Given the description of an element on the screen output the (x, y) to click on. 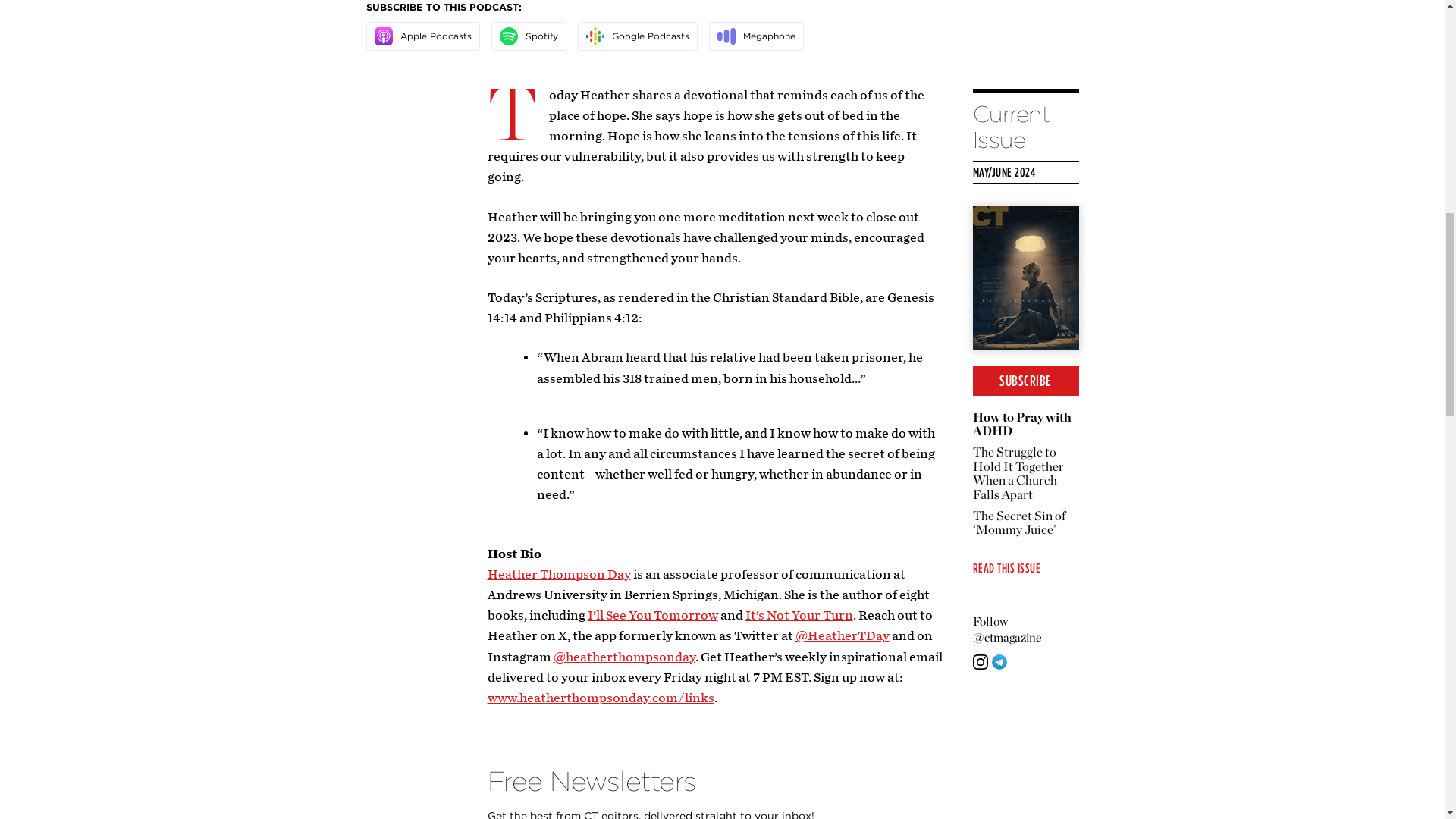
Megaphone (726, 36)
Apple Podcasts (383, 36)
Spotify (507, 36)
Google Podcasts (594, 36)
